Given the description of an element on the screen output the (x, y) to click on. 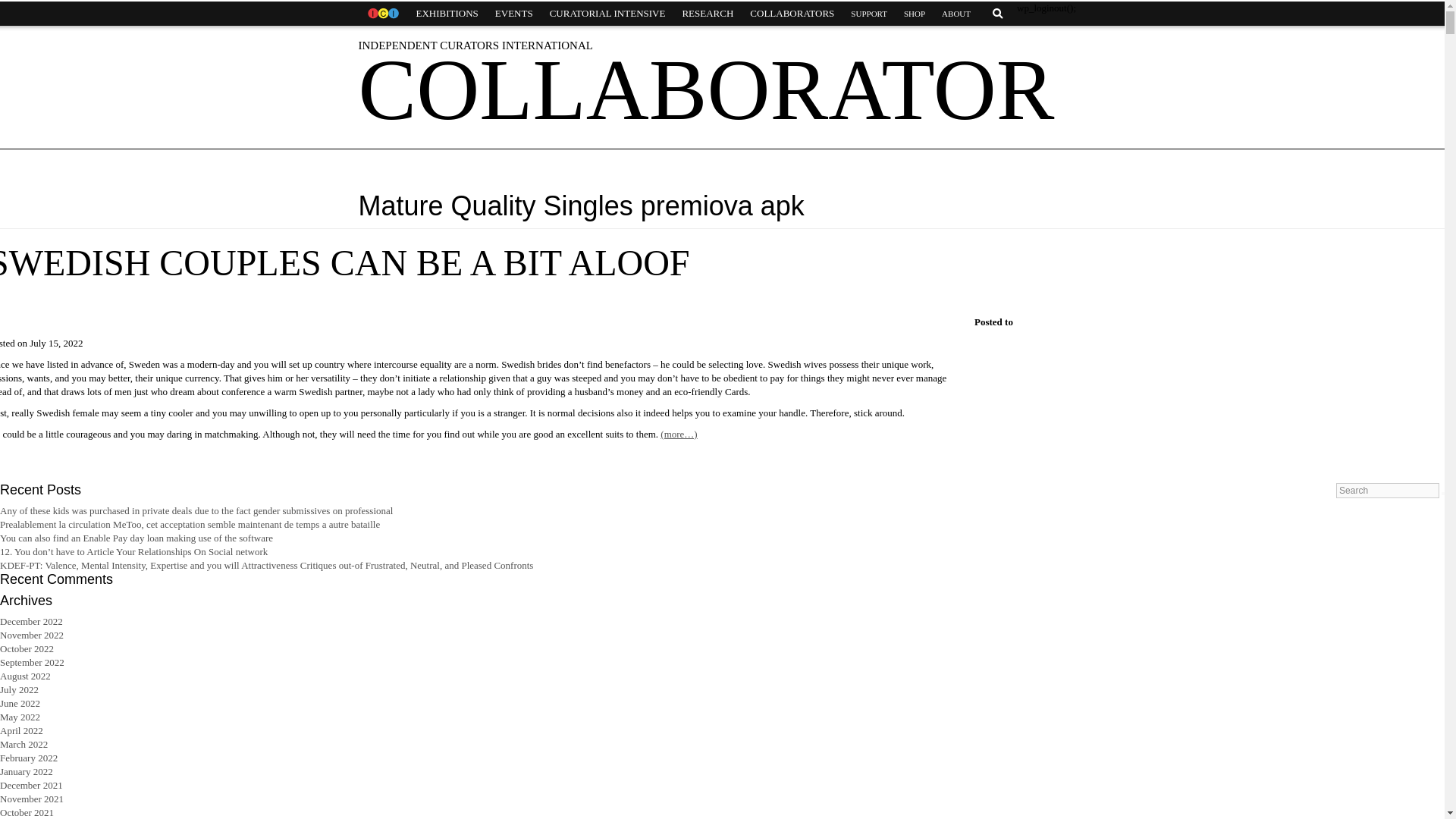
CURATORIAL INTENSIVE (607, 13)
HOME (382, 13)
COLLABORATORS (792, 13)
EVENTS (513, 13)
RESEARCH (706, 13)
EXHIBITIONS (446, 13)
